Given the description of an element on the screen output the (x, y) to click on. 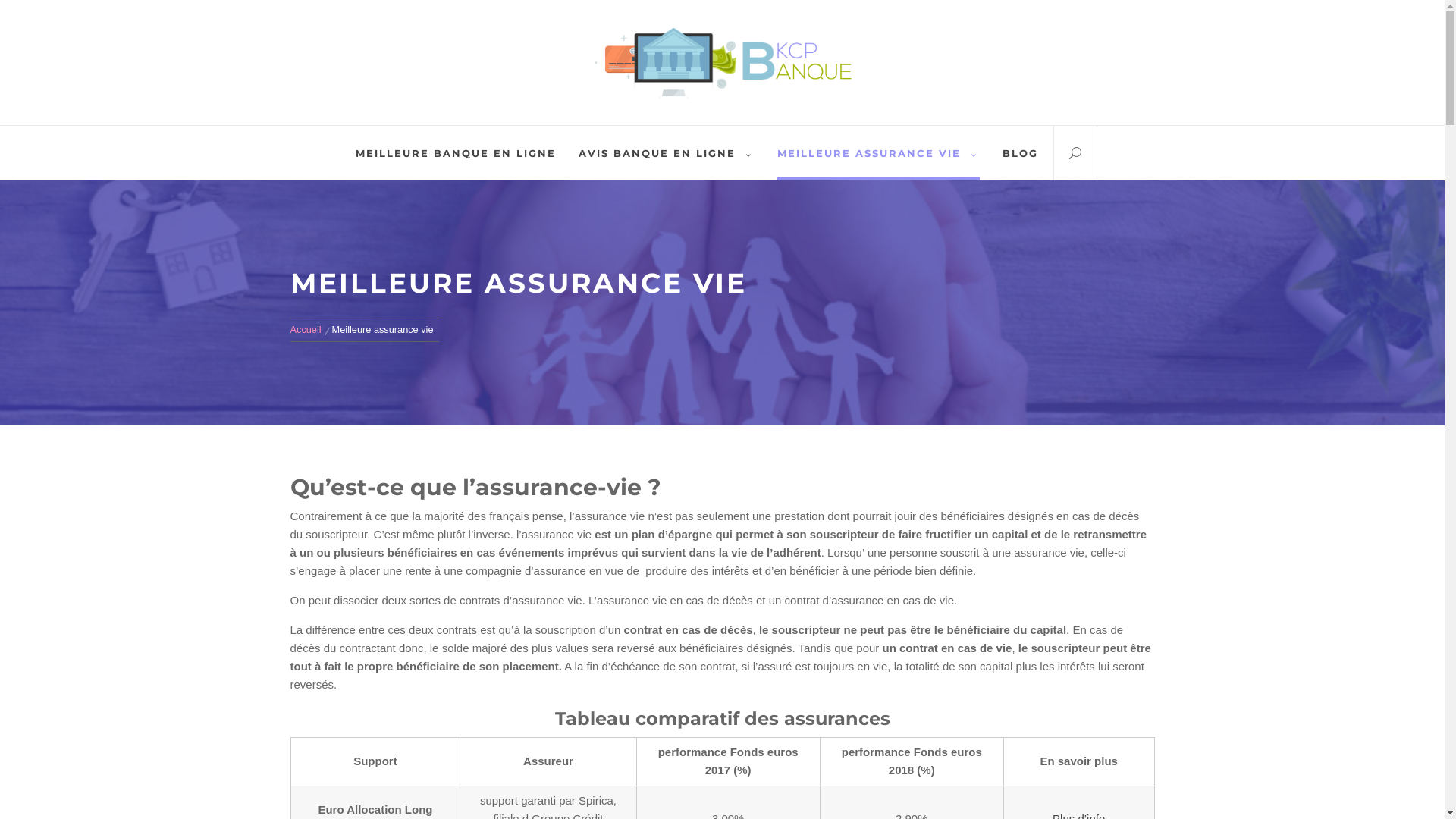
Accueil Element type: text (307, 329)
Rechercher Element type: text (797, 406)
MEILLEURE ASSURANCE VIE Element type: text (878, 152)
MEILLEURES BANQUE EN LIGNES DE 2021 : Element type: text (722, 178)
BLOG Element type: text (1020, 152)
Meilleure assurance vie Element type: text (382, 329)
MEILLEURE BANQUE EN LIGNE Element type: text (455, 152)
AVIS BANQUE EN LIGNE Element type: text (666, 152)
